Given the description of an element on the screen output the (x, y) to click on. 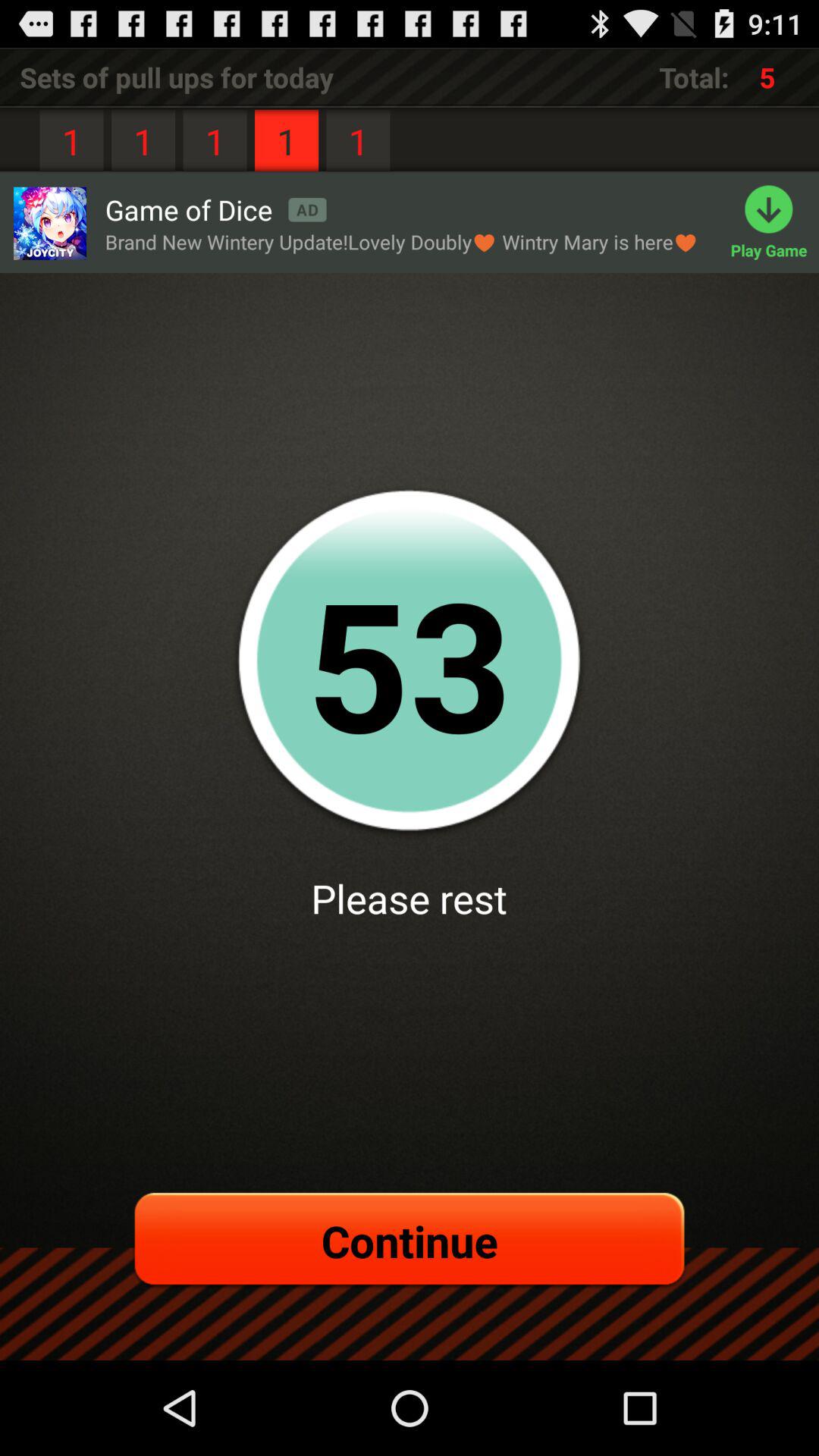
launch the icon below 1 (49, 222)
